Given the description of an element on the screen output the (x, y) to click on. 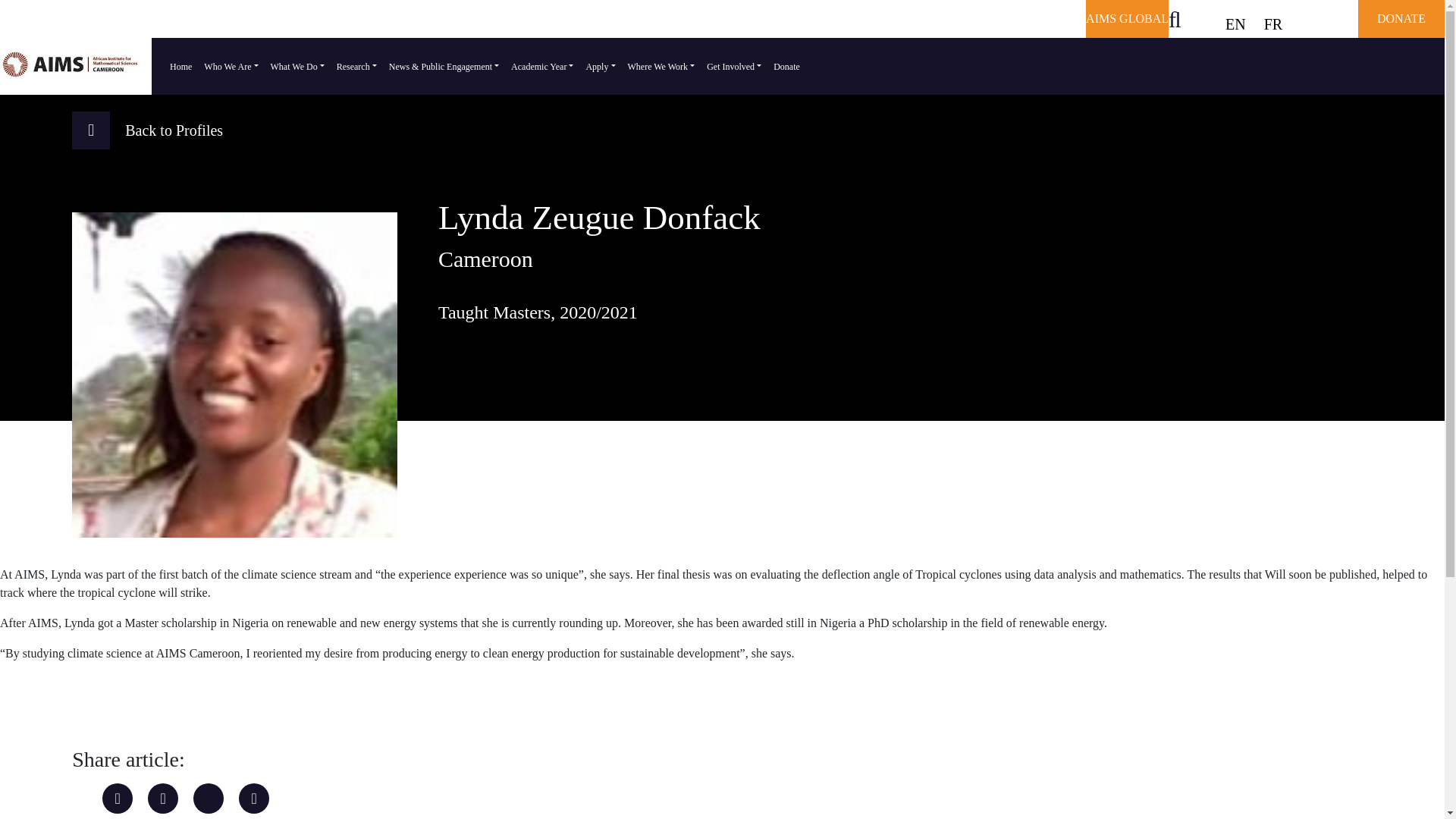
What We Do (297, 66)
French (1273, 23)
Who We Are (230, 66)
What We Do (297, 66)
Who We Are (230, 66)
English (1235, 23)
